Given the description of an element on the screen output the (x, y) to click on. 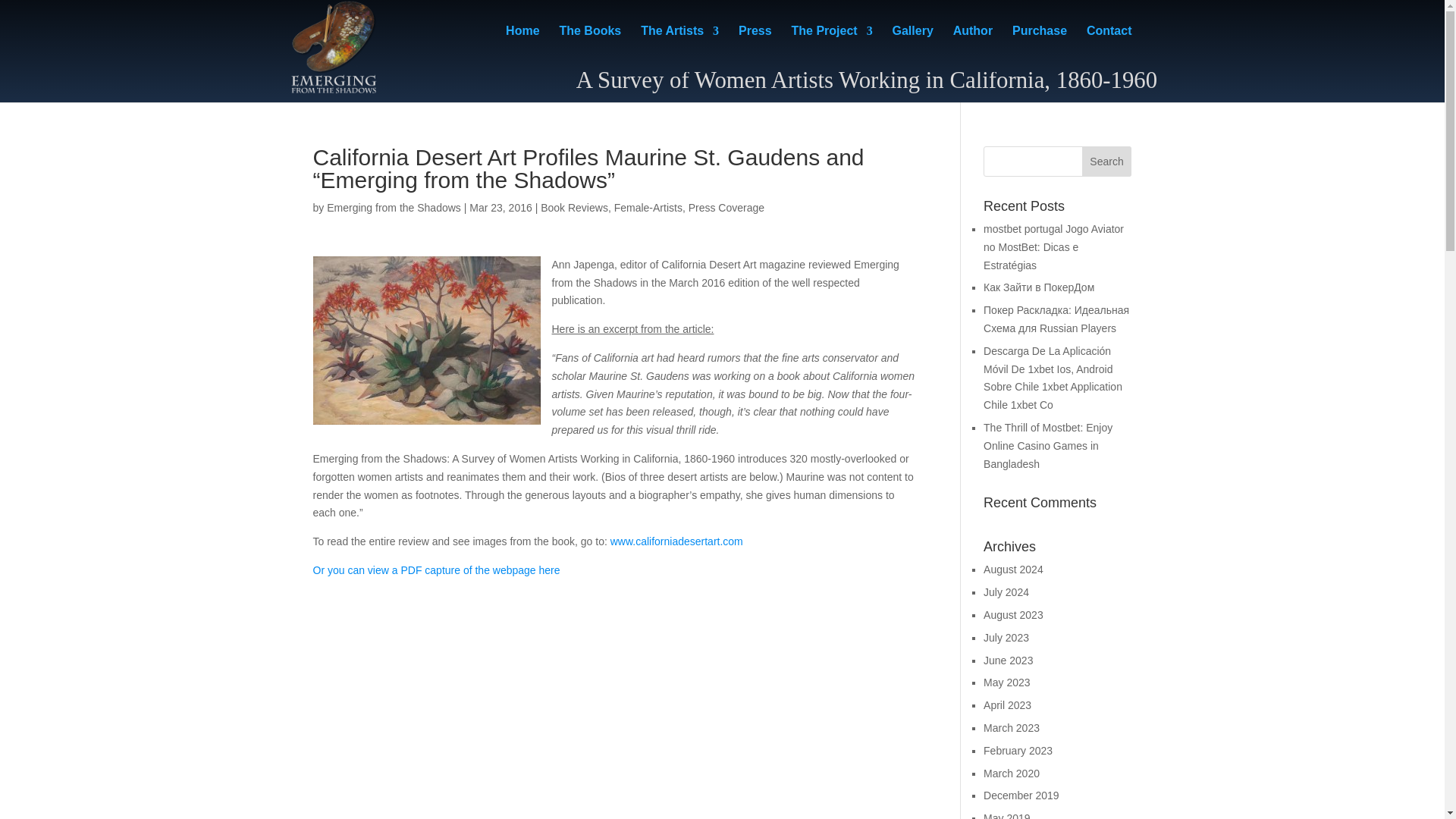
Press Coverage (726, 207)
The Books (590, 43)
Author (972, 43)
Search (1106, 161)
Search (1106, 161)
Female-Artists (648, 207)
www.californiadesertart.com (676, 541)
Purchase (1039, 43)
Posts by Emerging from the Shadows (393, 207)
Book Reviews (574, 207)
